Given the description of an element on the screen output the (x, y) to click on. 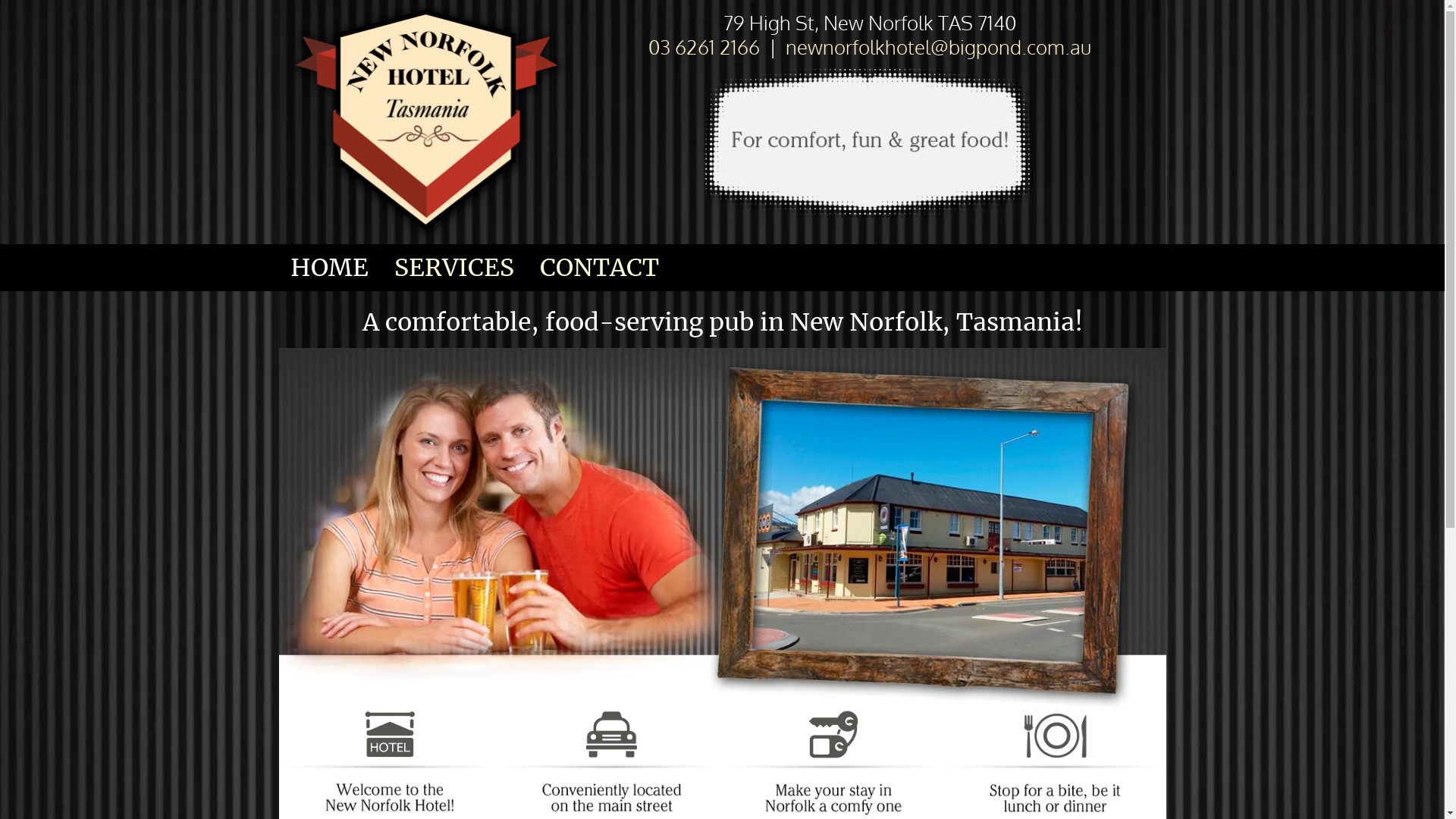
CONTACT Element type: text (598, 267)
pub accommodation New Norfolk Hotel Element type: hover (832, 735)
New Norfolk Hotel Pub Accommodation in New Norfolk, Tasmania Element type: hover (426, 122)
03 6261 2166 Element type: text (703, 46)
New Norfolk Hotel Tasmania for great fun and food Element type: hover (722, 528)
SERVICES Element type: text (454, 267)
pub accommodation New Norfolk Tasmania Element type: hover (611, 735)
HOME Element type: text (328, 267)
for comfort, fun & food in Tasmania Element type: hover (869, 142)
newnorfolkhotel@bigpond.com.au Element type: text (938, 46)
homely comfort at excellent rates,- in New Norfolk, Tasmania Element type: hover (390, 735)
